Given the description of an element on the screen output the (x, y) to click on. 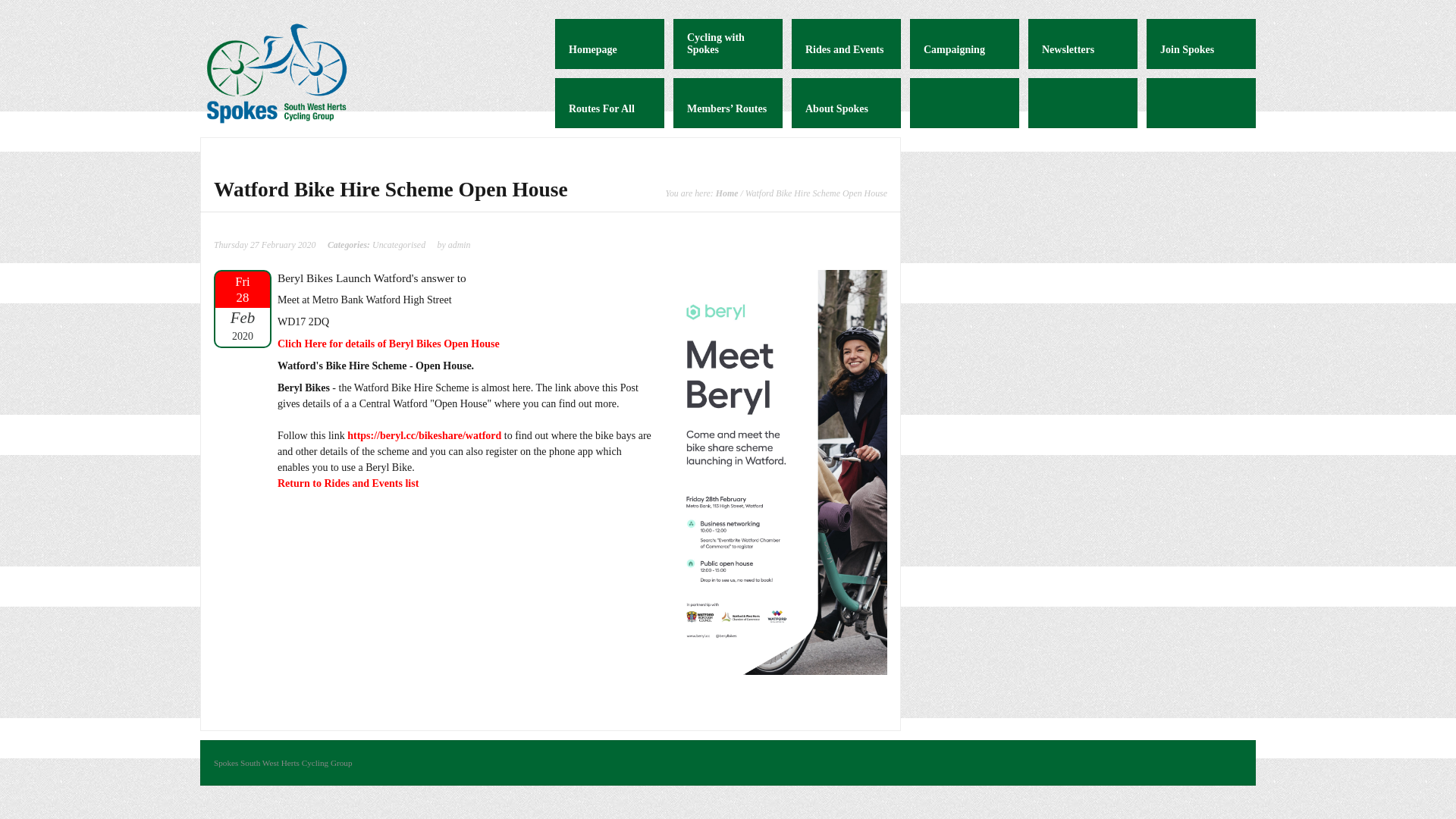
Newsletters (1082, 43)
Clich Here for details of Beryl Bikes Open House (388, 343)
Rides and Events (846, 43)
Cycling with Spokes (727, 43)
Home (727, 193)
Join Spokes (1201, 43)
Return to Rides and Events list (348, 482)
About Spokes (846, 102)
Homepage (608, 43)
Campaigning (964, 43)
Routes For All (608, 102)
